Given the description of an element on the screen output the (x, y) to click on. 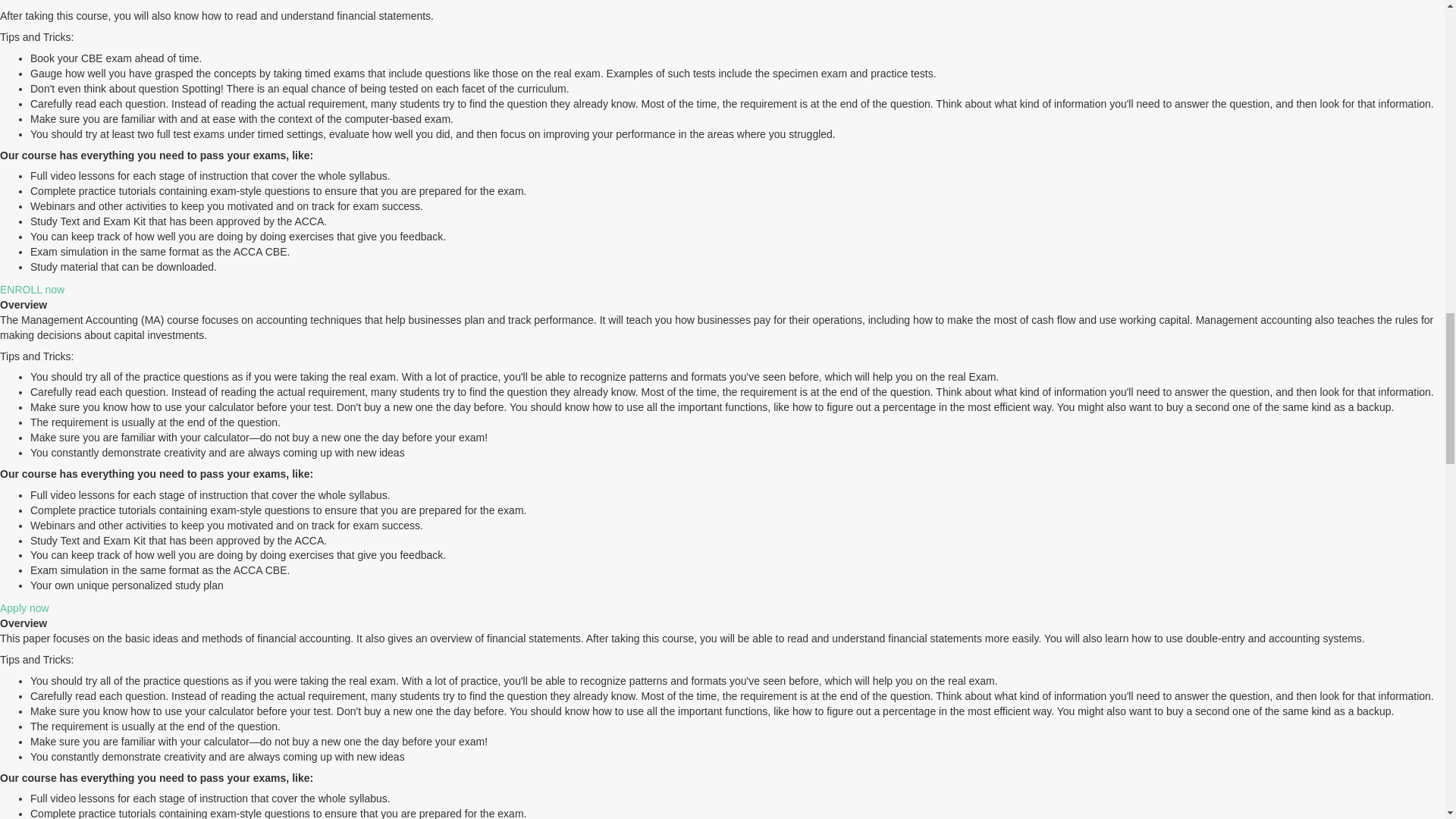
ENROLL now (32, 289)
Apply now (24, 607)
